Given the description of an element on the screen output the (x, y) to click on. 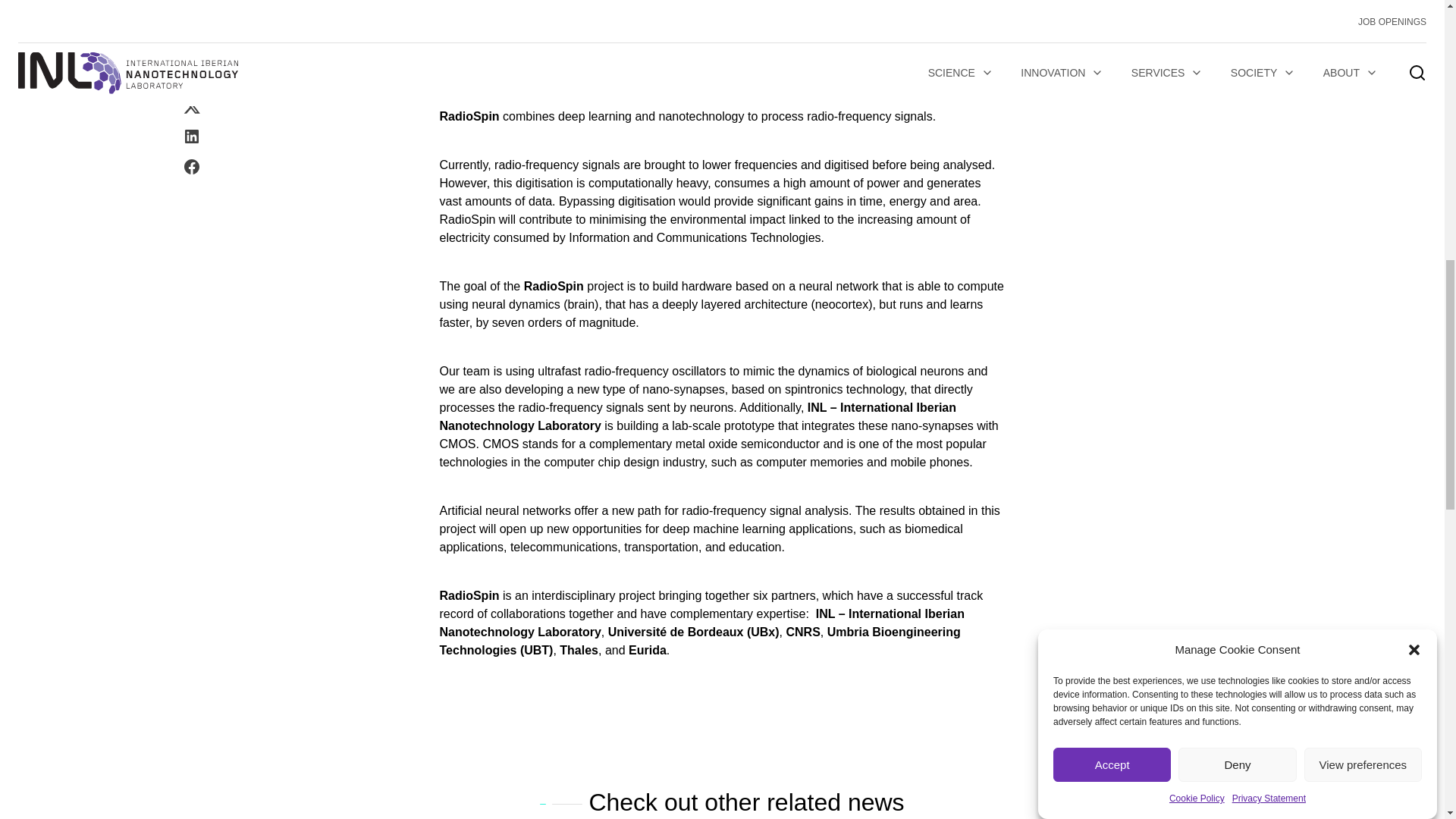
Cookie Policy (1196, 75)
Accept (1111, 144)
Privacy Statement (1268, 60)
Deny (1236, 119)
Share on Facebook (191, 55)
Share on Twitter (191, 5)
Share on Linkedin (191, 25)
View preferences (1363, 96)
